Given the description of an element on the screen output the (x, y) to click on. 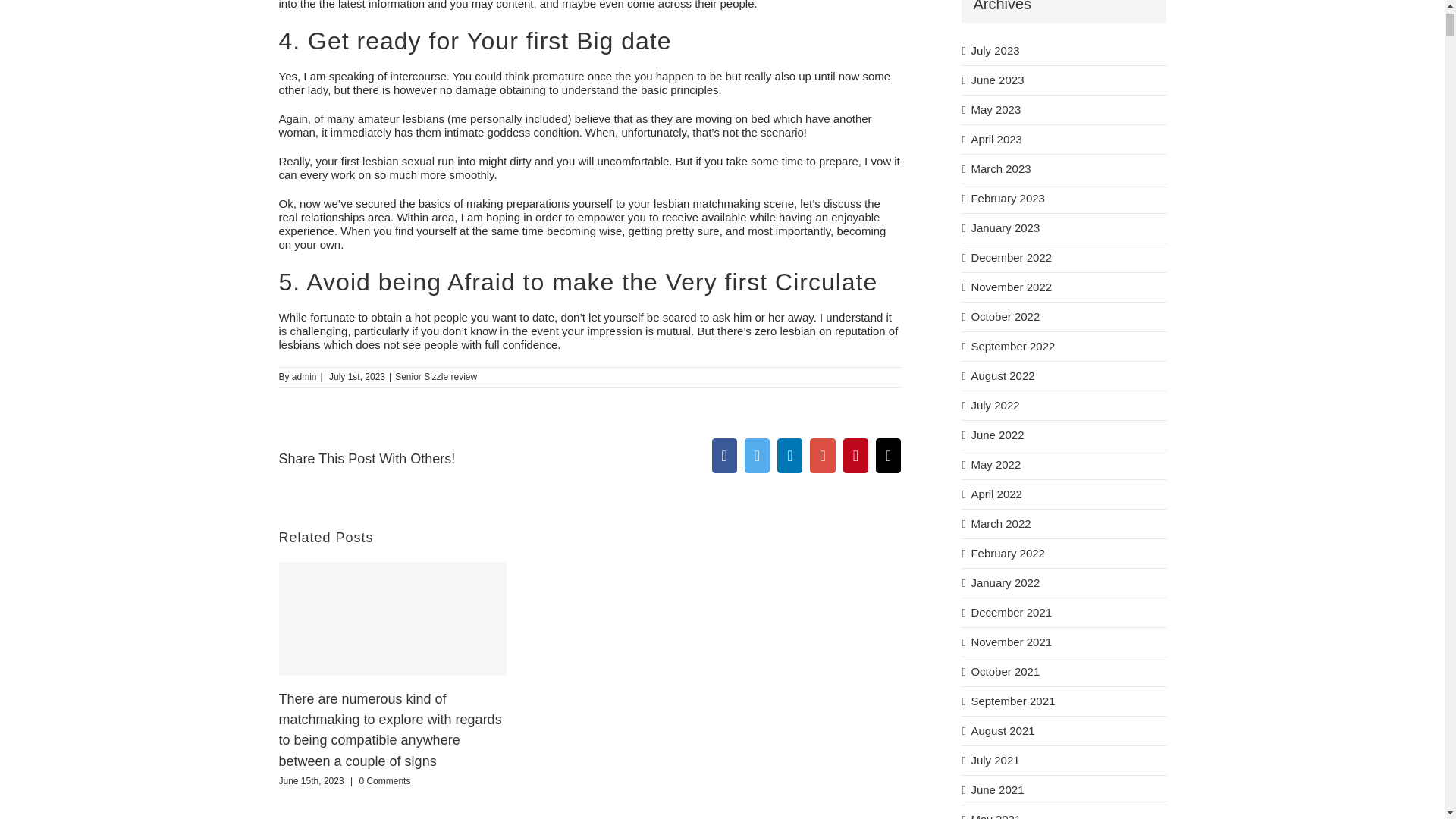
Posts by admin (304, 376)
Senior Sizzle review (435, 376)
admin (304, 376)
